Given the description of an element on the screen output the (x, y) to click on. 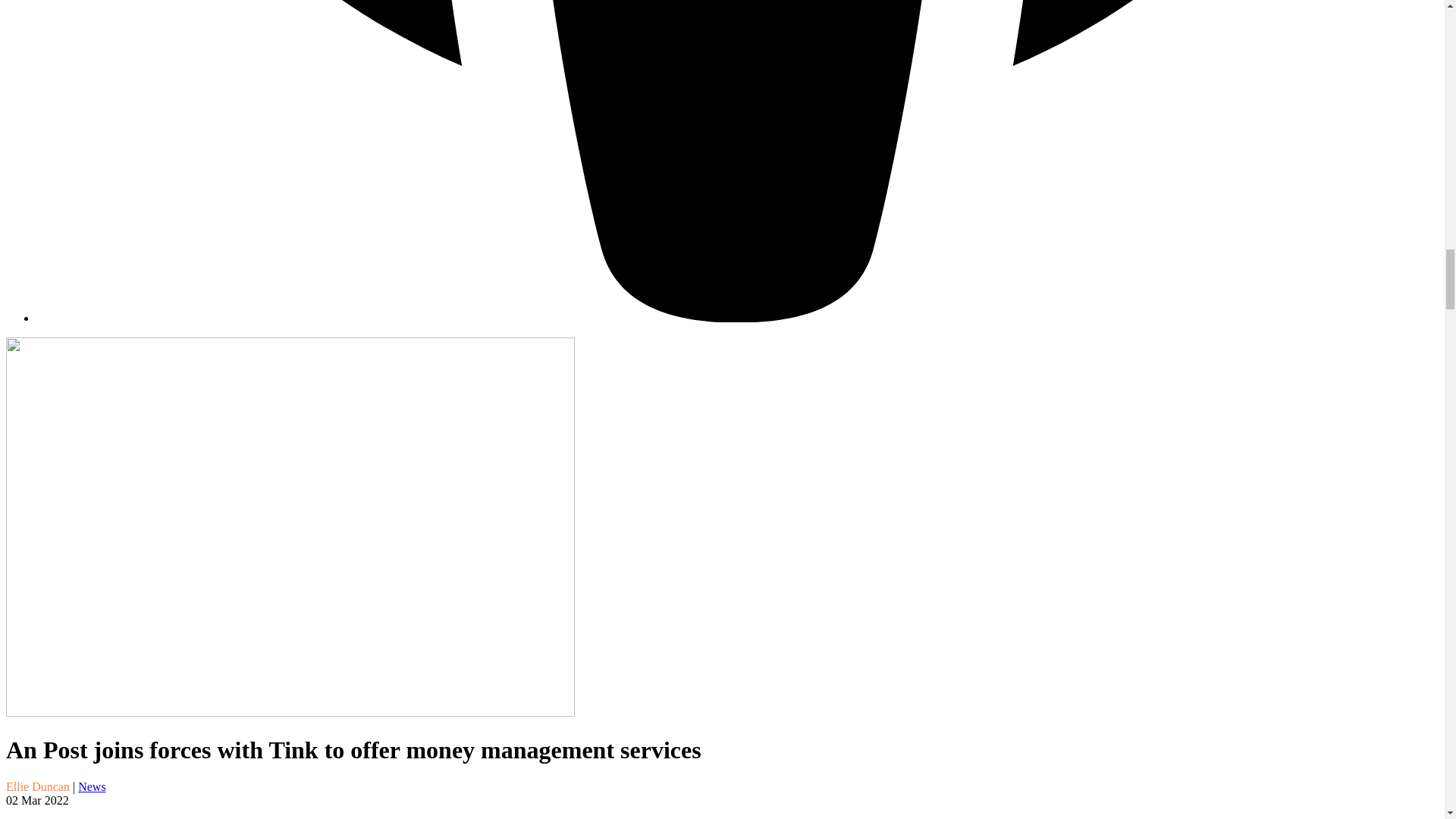
News (91, 786)
